Given the description of an element on the screen output the (x, y) to click on. 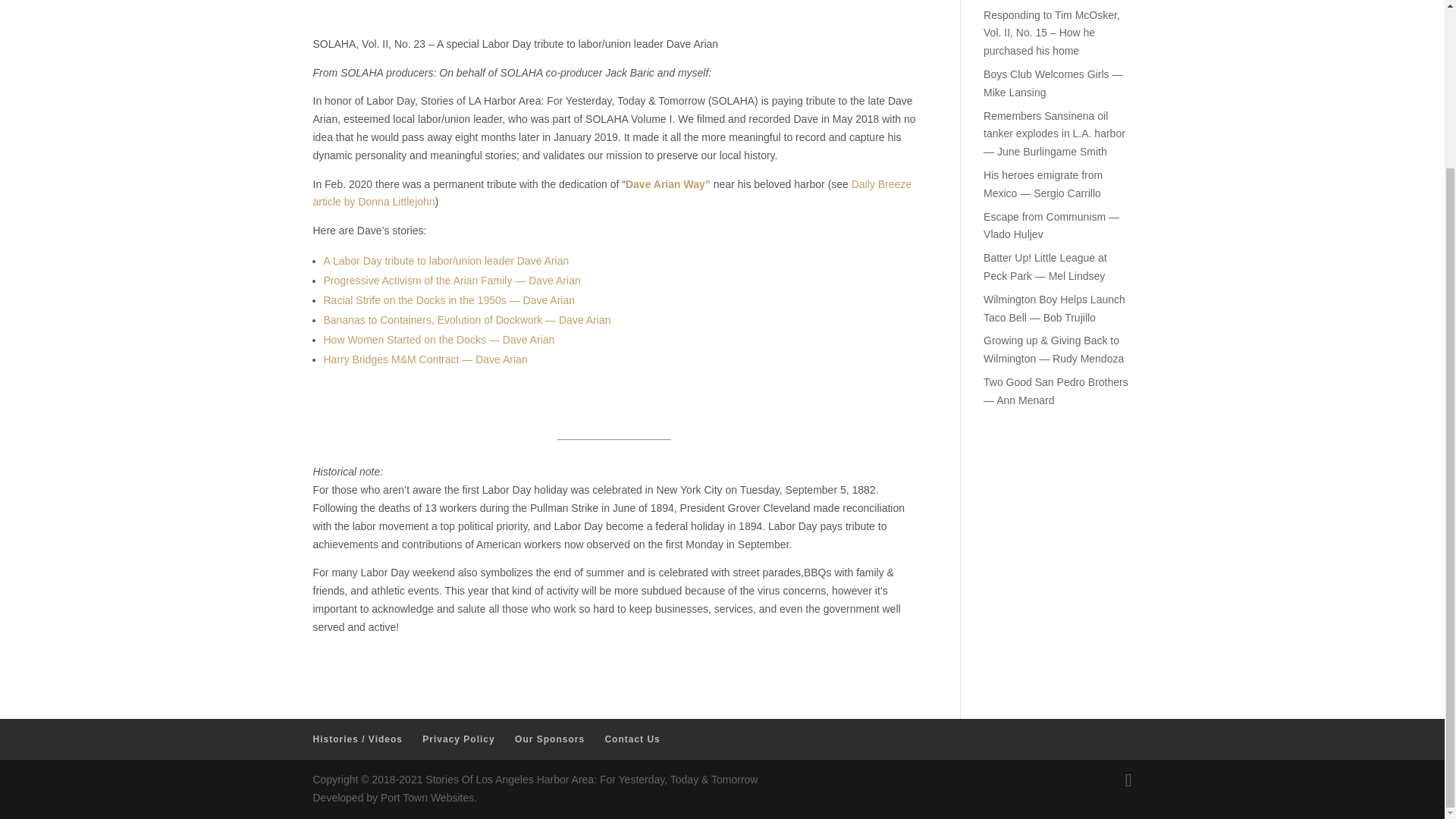
Daily Breeze article by Donna Littlejohn (612, 193)
